Given the description of an element on the screen output the (x, y) to click on. 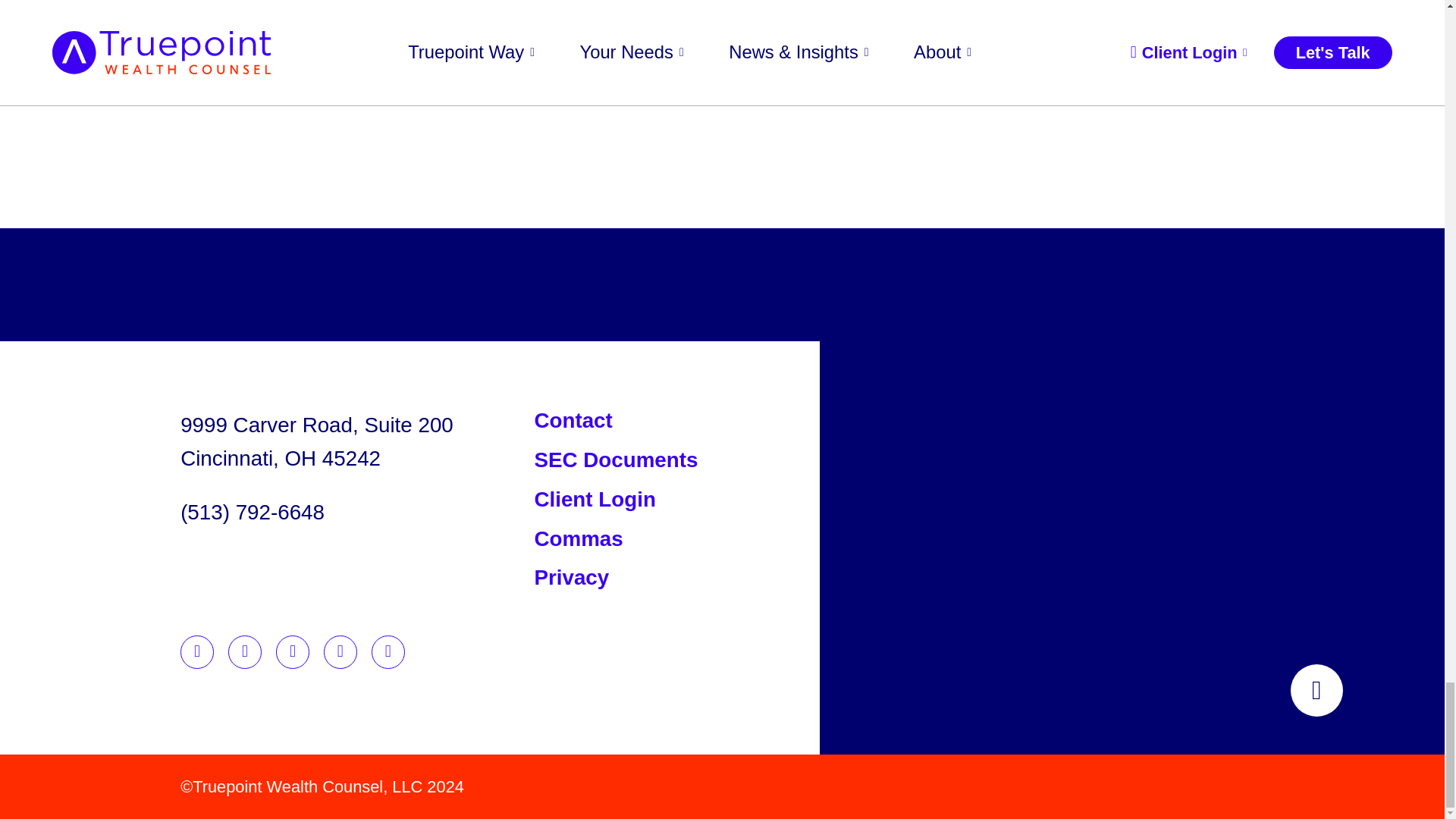
Facebook (245, 652)
YouTube (387, 652)
Twitter (292, 652)
Instagram (339, 652)
Linkedin (197, 652)
Scroll To Top (1316, 690)
